Given the description of an element on the screen output the (x, y) to click on. 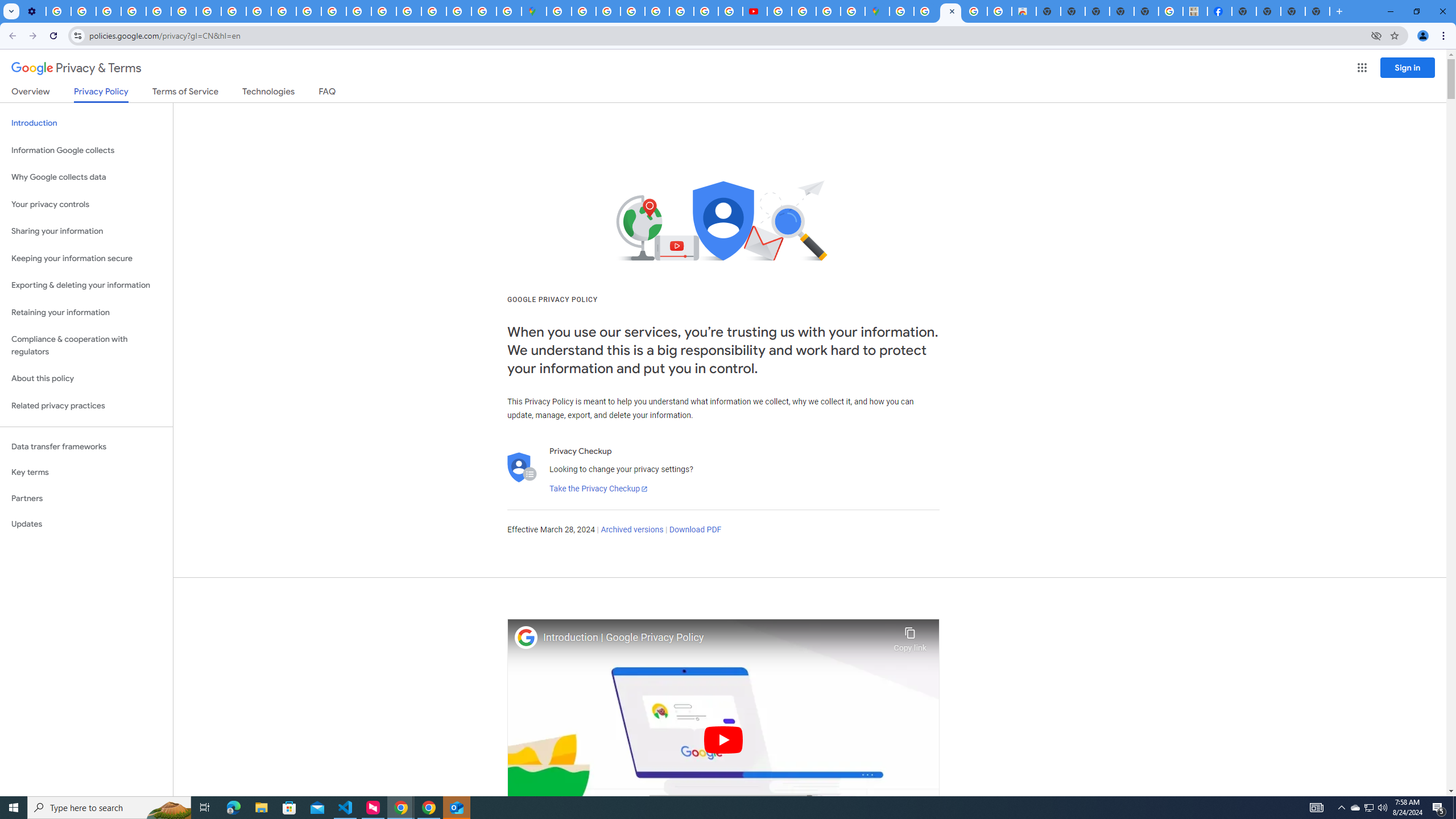
Introduction | Google Privacy Policy (715, 637)
Settings - Customize profile (33, 11)
Privacy Checkup (283, 11)
Sign in - Google Accounts (900, 11)
